Given the description of an element on the screen output the (x, y) to click on. 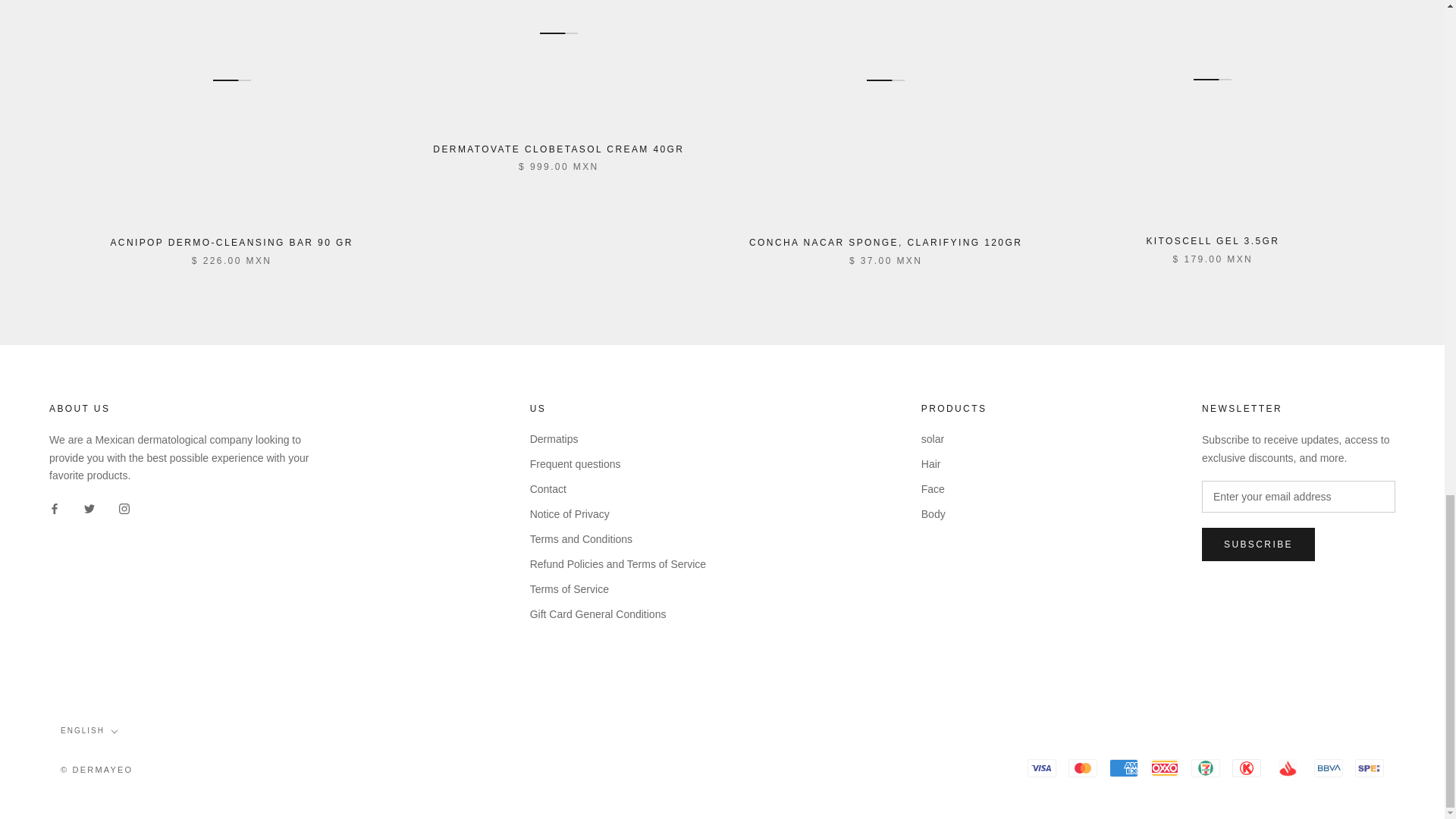
American Express (1123, 768)
OXXO (1164, 768)
Visa (1042, 768)
Mastercard (1082, 768)
